Given the description of an element on the screen output the (x, y) to click on. 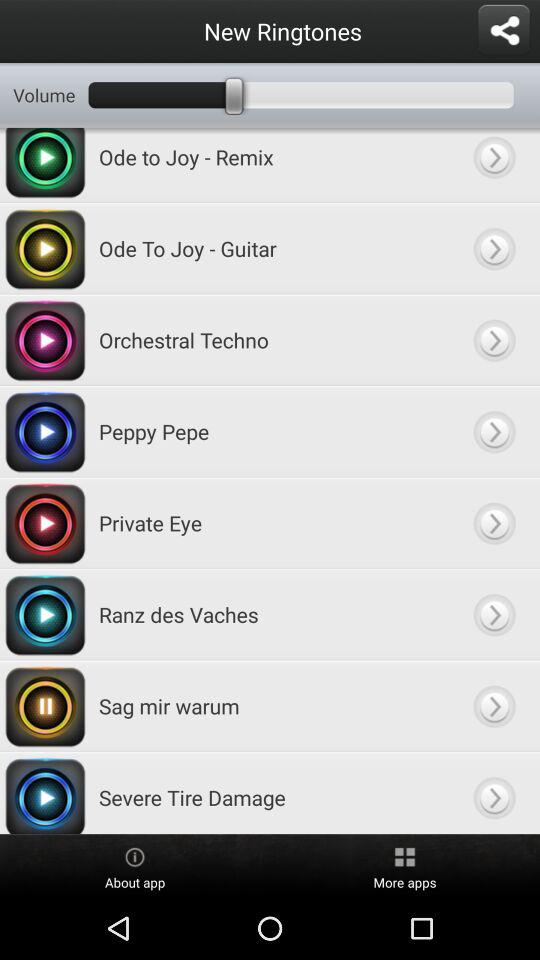
back ward (494, 431)
